Given the description of an element on the screen output the (x, y) to click on. 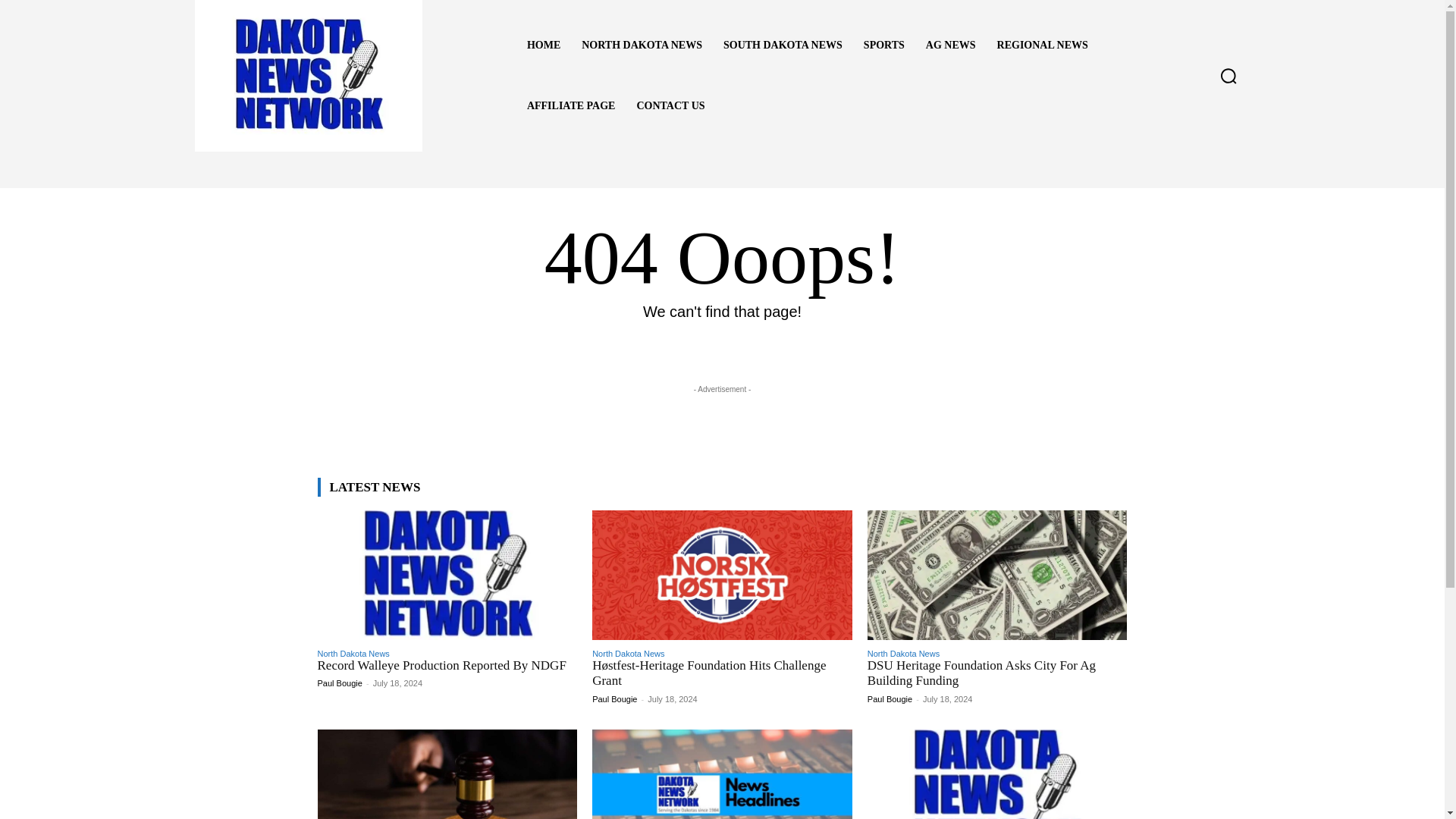
Paul Bougie (889, 698)
Paul Bougie (614, 698)
Record Walleye Production Reported By NDGF (441, 665)
DSU Heritage Foundation Asks City For Ag Building Funding (981, 672)
REGIONAL NEWS (1043, 45)
AG NEWS (951, 45)
North Dakota News (903, 654)
HOME (543, 45)
AFFILIATE PAGE (571, 106)
DSU Heritage Foundation Asks City For Ag Building Funding (981, 672)
SPORTS (884, 45)
North Dakota News (352, 654)
Paul Bougie (339, 682)
CONTACT US (670, 106)
